Given the description of an element on the screen output the (x, y) to click on. 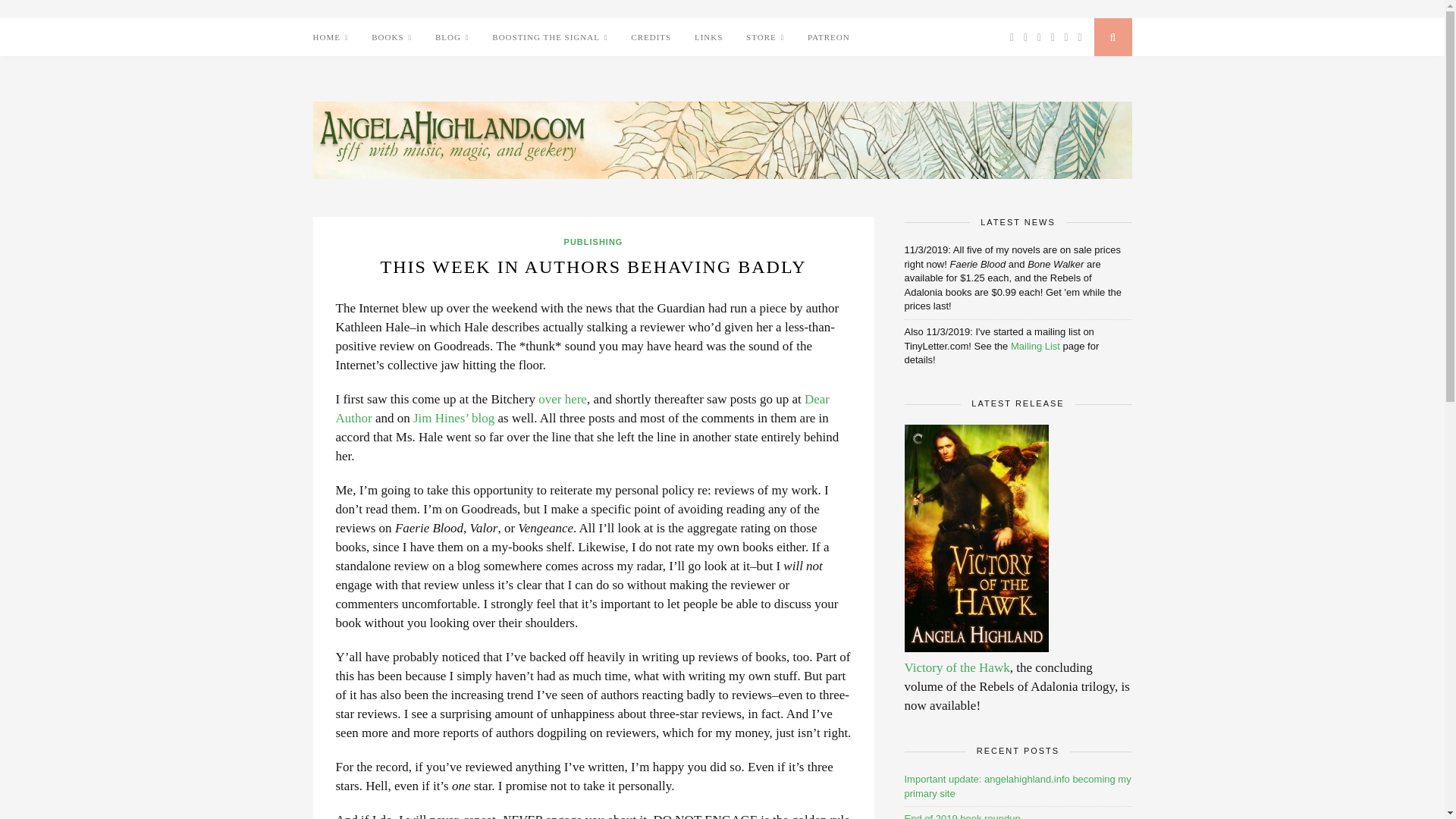
PATREON (829, 37)
STORE (764, 37)
HOME (330, 37)
CREDITS (650, 37)
BOOSTING THE SIGNAL (549, 37)
BOOKS (391, 37)
